Given the description of an element on the screen output the (x, y) to click on. 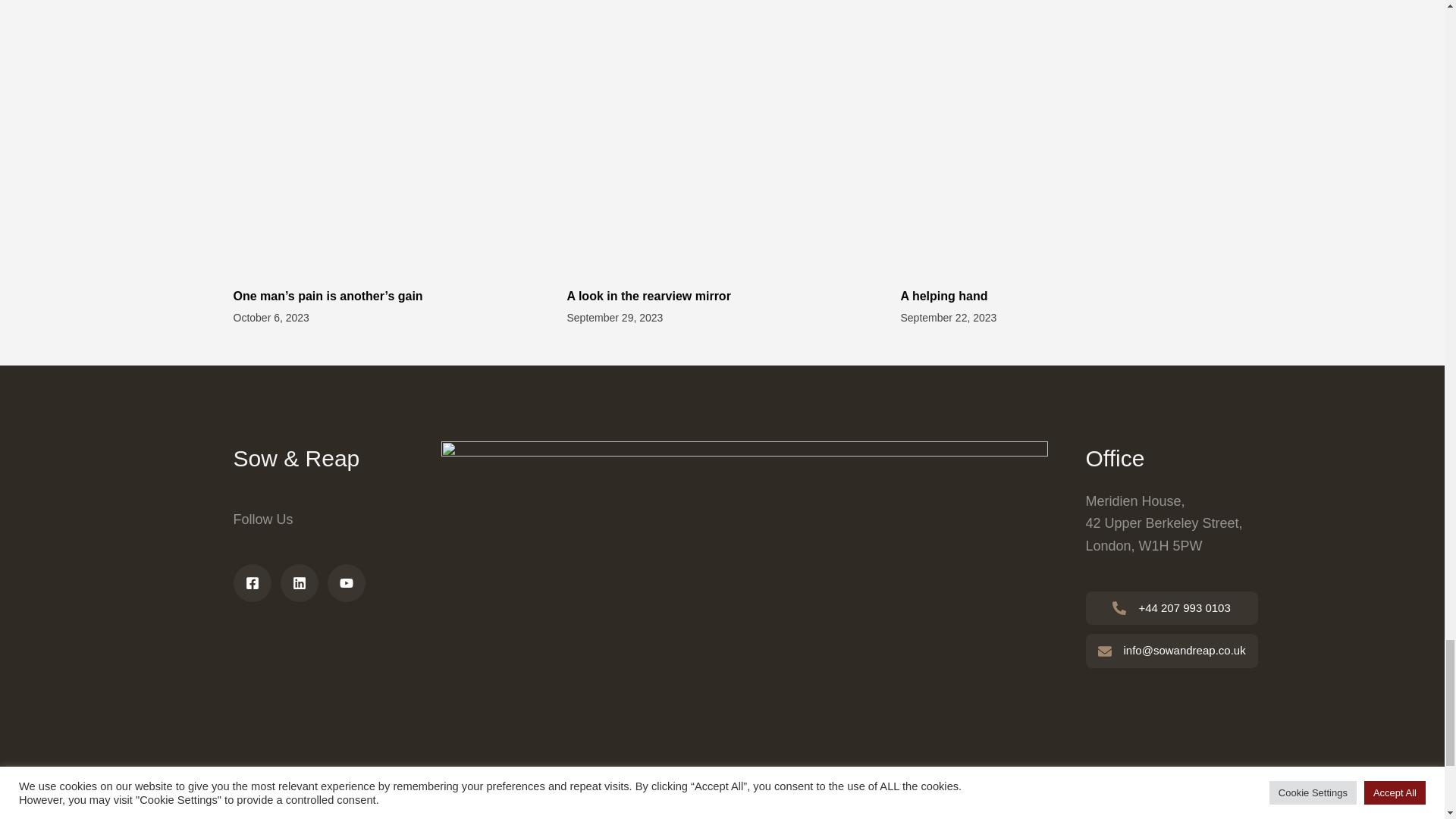
A helping hand (944, 295)
A look in the rearview mirror   (652, 295)
